Given the description of an element on the screen output the (x, y) to click on. 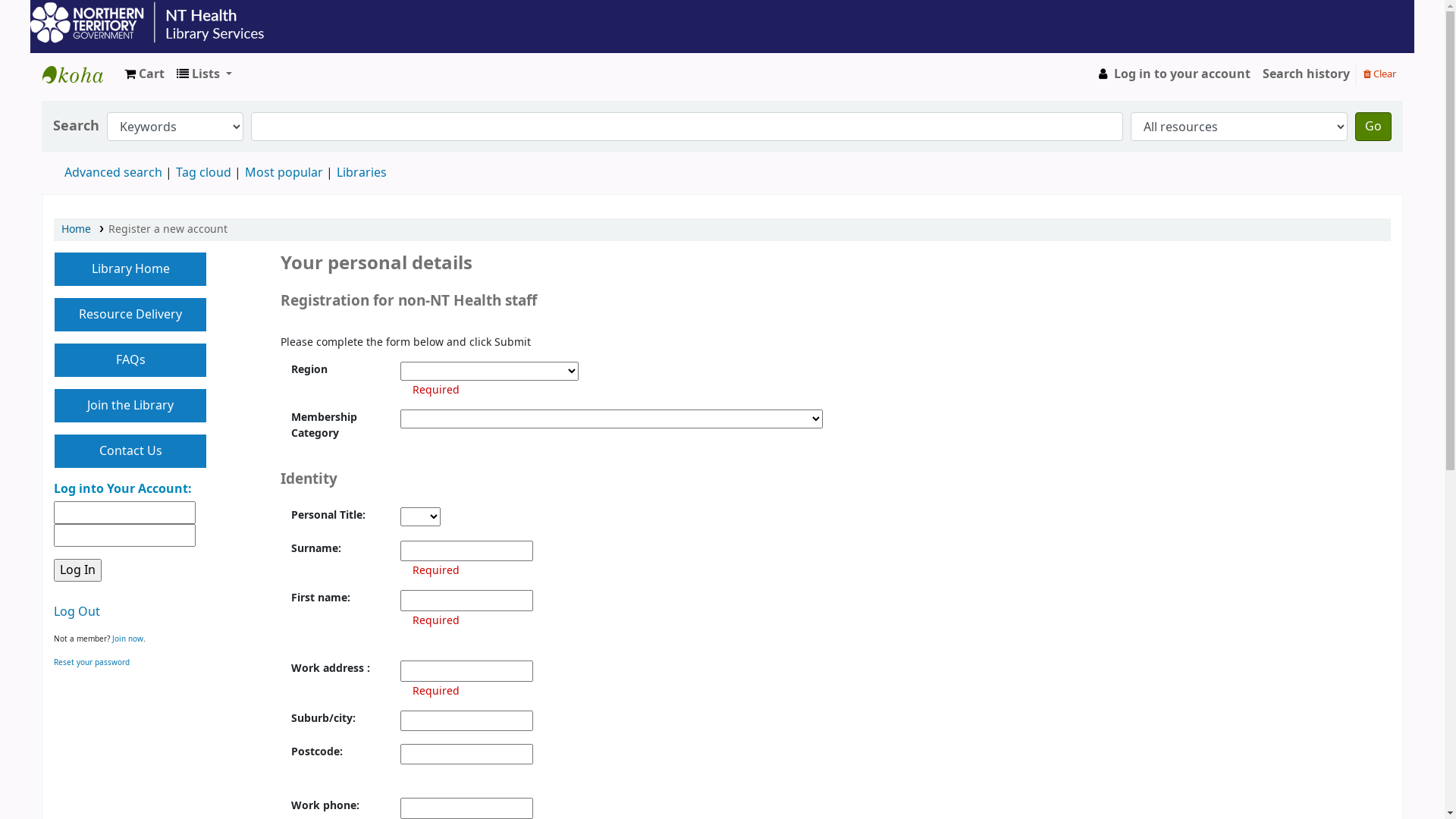
NT Health Library Element type: text (80, 74)
Resource Delivery Element type: text (130, 314)
Advanced search Element type: text (113, 172)
Go Element type: text (1373, 126)
Lists Element type: text (204, 74)
Tag cloud Element type: text (203, 172)
Cart Element type: text (144, 74)
Resource Delivery Element type: text (130, 314)
Library Home Element type: text (130, 269)
Join the Library Element type: text (130, 405)
Most popular Element type: text (283, 172)
Clear Element type: text (1379, 73)
Library Home Element type: text (130, 268)
Reset your password Element type: text (91, 662)
Contact Us Element type: text (130, 451)
FAQs Element type: text (130, 360)
Libraries Element type: text (361, 172)
Search history Element type: text (1305, 74)
Register a new account Element type: text (167, 229)
Log in to your account Element type: text (1172, 74)
Log In Element type: text (77, 569)
FAQs Element type: text (130, 359)
Home Element type: text (76, 229)
Contact Us Element type: text (130, 450)
Type search term Element type: hover (687, 126)
Log Out Element type: text (76, 611)
Join the Library Element type: text (130, 405)
Join now Element type: text (127, 638)
